Given the description of an element on the screen output the (x, y) to click on. 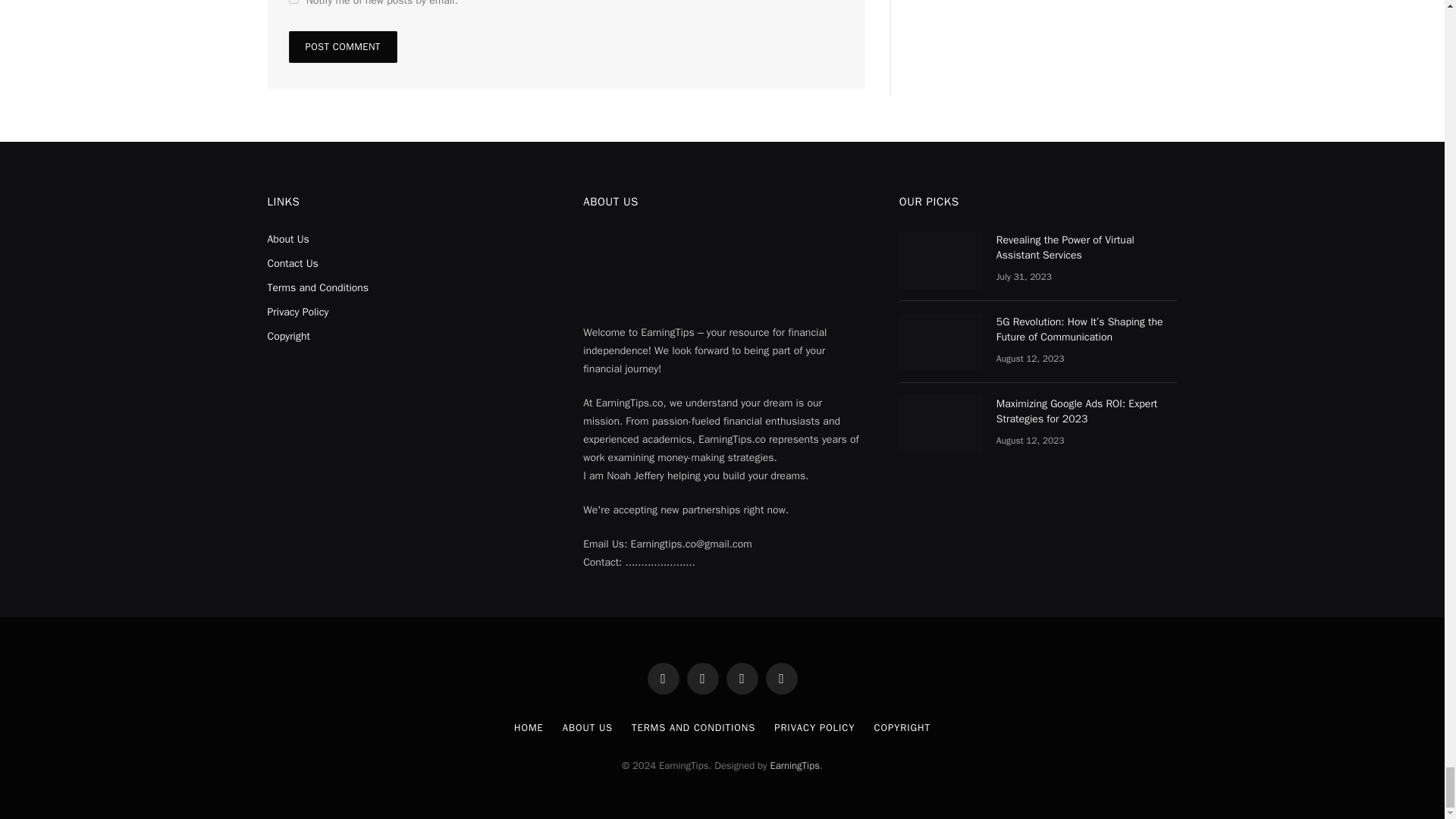
Post Comment (342, 47)
subscribe (293, 2)
